Given the description of an element on the screen output the (x, y) to click on. 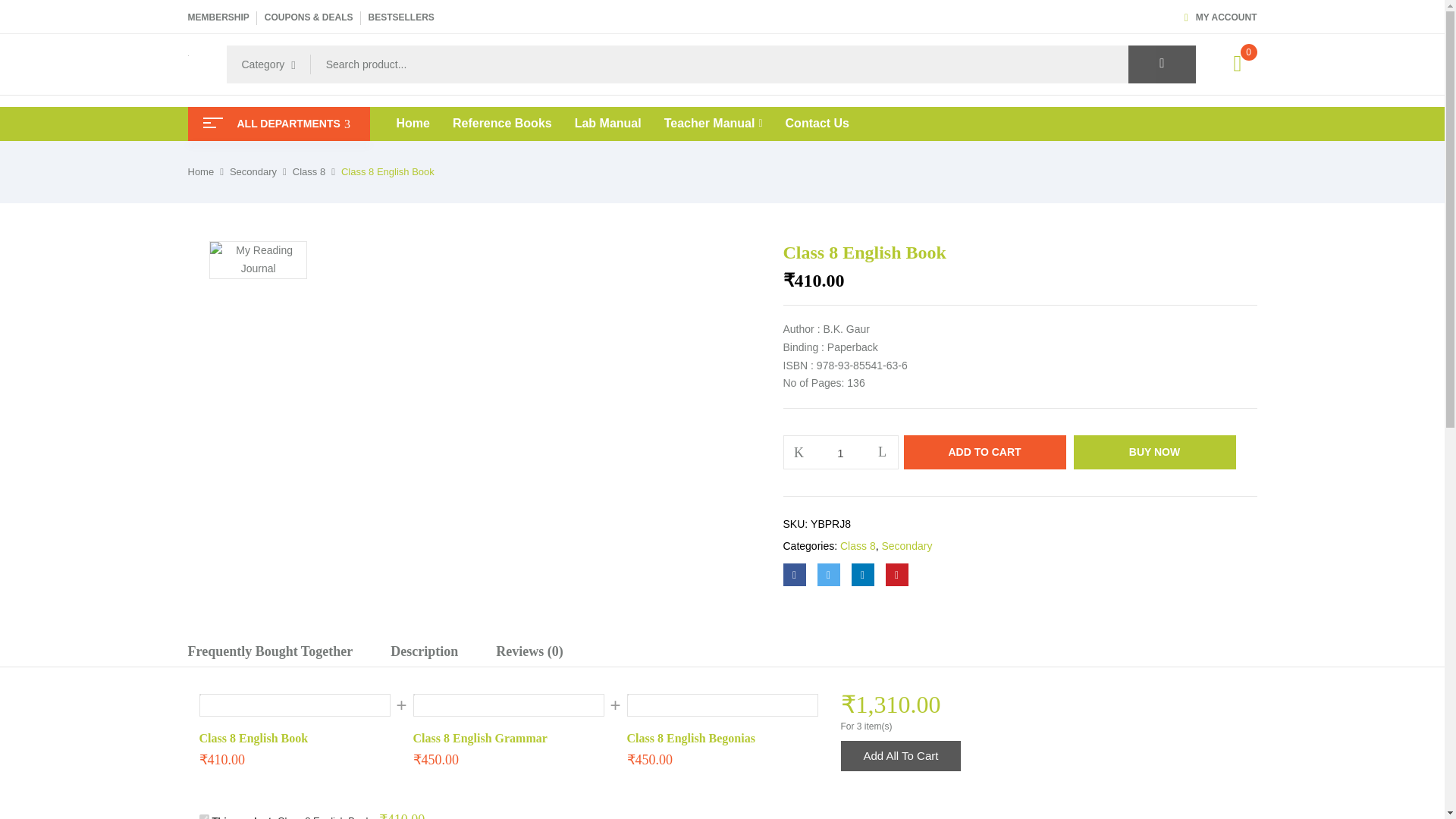
1 (841, 452)
Home (412, 123)
Pinterest (896, 574)
Teacher Manual (712, 123)
Facebook (794, 574)
search (1161, 64)
MEMBERSHIP (217, 17)
Twitter (828, 574)
Lab Manual (608, 123)
on (203, 816)
LinkedIn (861, 574)
MY ACCOUNT (1221, 17)
Reference Books (501, 123)
BESTSELLERS (400, 17)
